Given the description of an element on the screen output the (x, y) to click on. 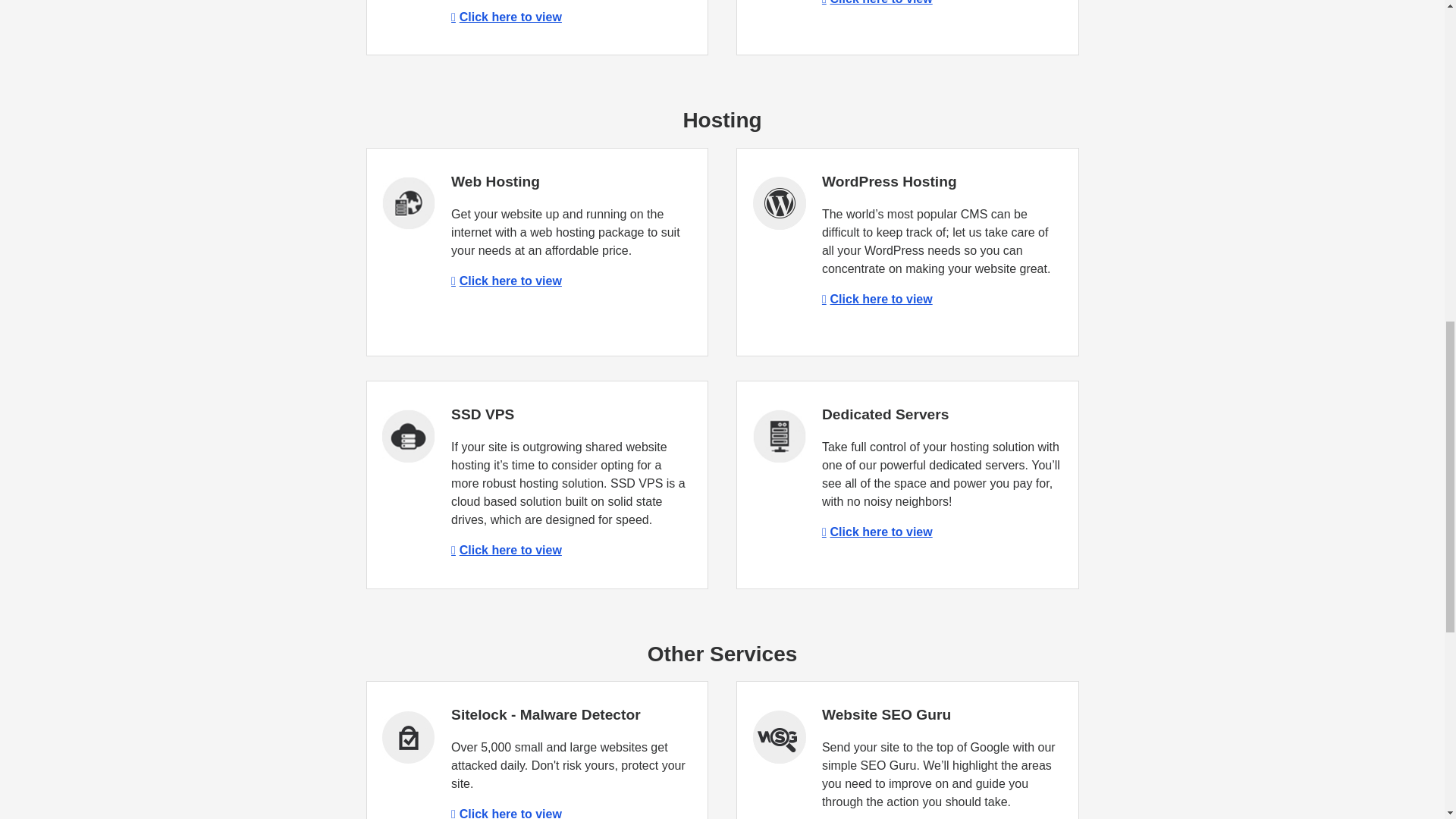
Click here to view (877, 531)
Click here to view (506, 16)
Click here to view (877, 2)
Click here to view (877, 298)
Click here to view (506, 813)
Click here to view (506, 549)
Click here to view (506, 280)
